Given the description of an element on the screen output the (x, y) to click on. 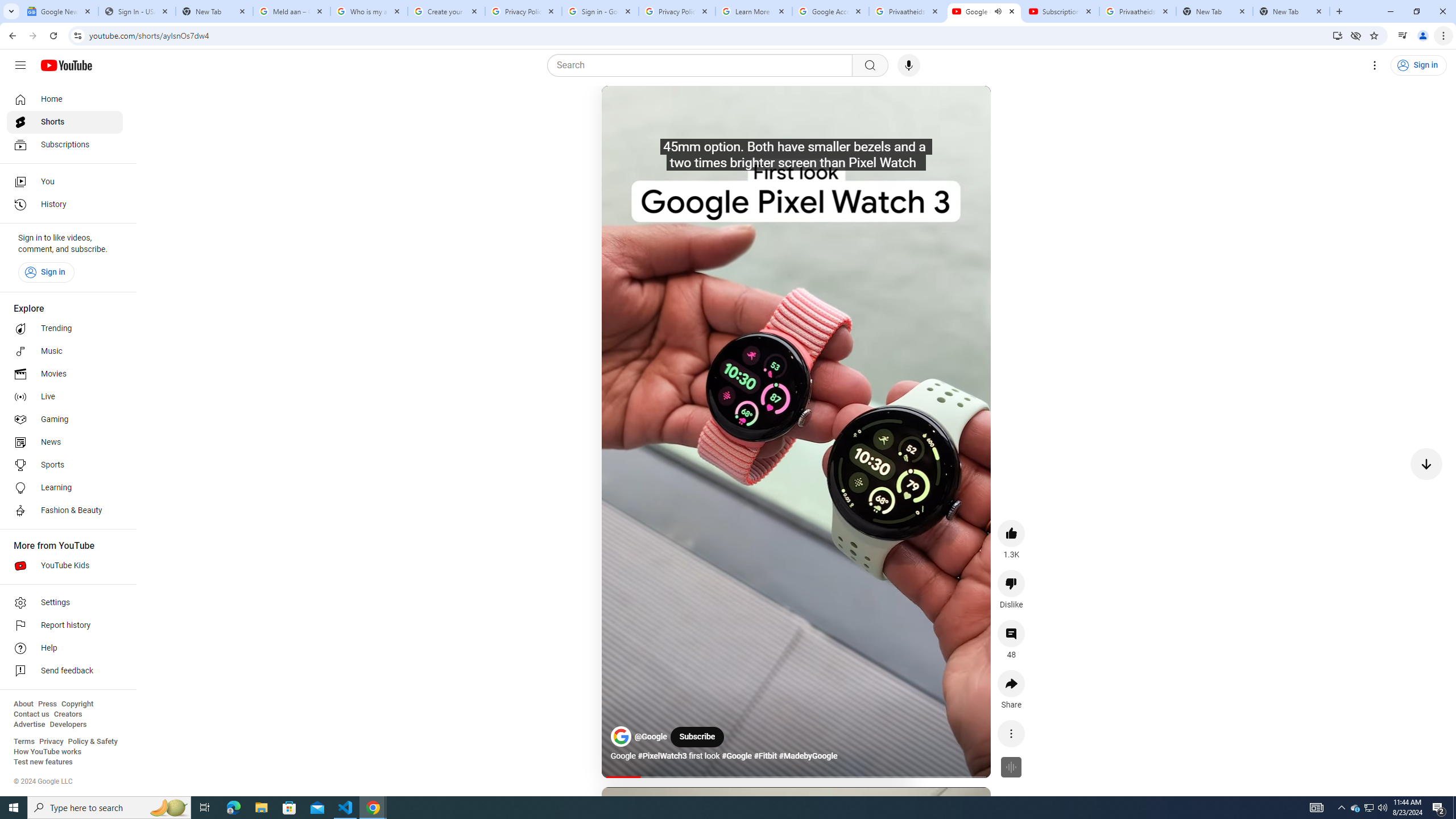
Live (64, 396)
Report history (64, 625)
Dislike this video (1011, 583)
YouTube Kids (64, 565)
New Tab (1291, 11)
Advertise (29, 724)
Search with your voice (908, 65)
Developers (68, 724)
Sports (64, 464)
